Given the description of an element on the screen output the (x, y) to click on. 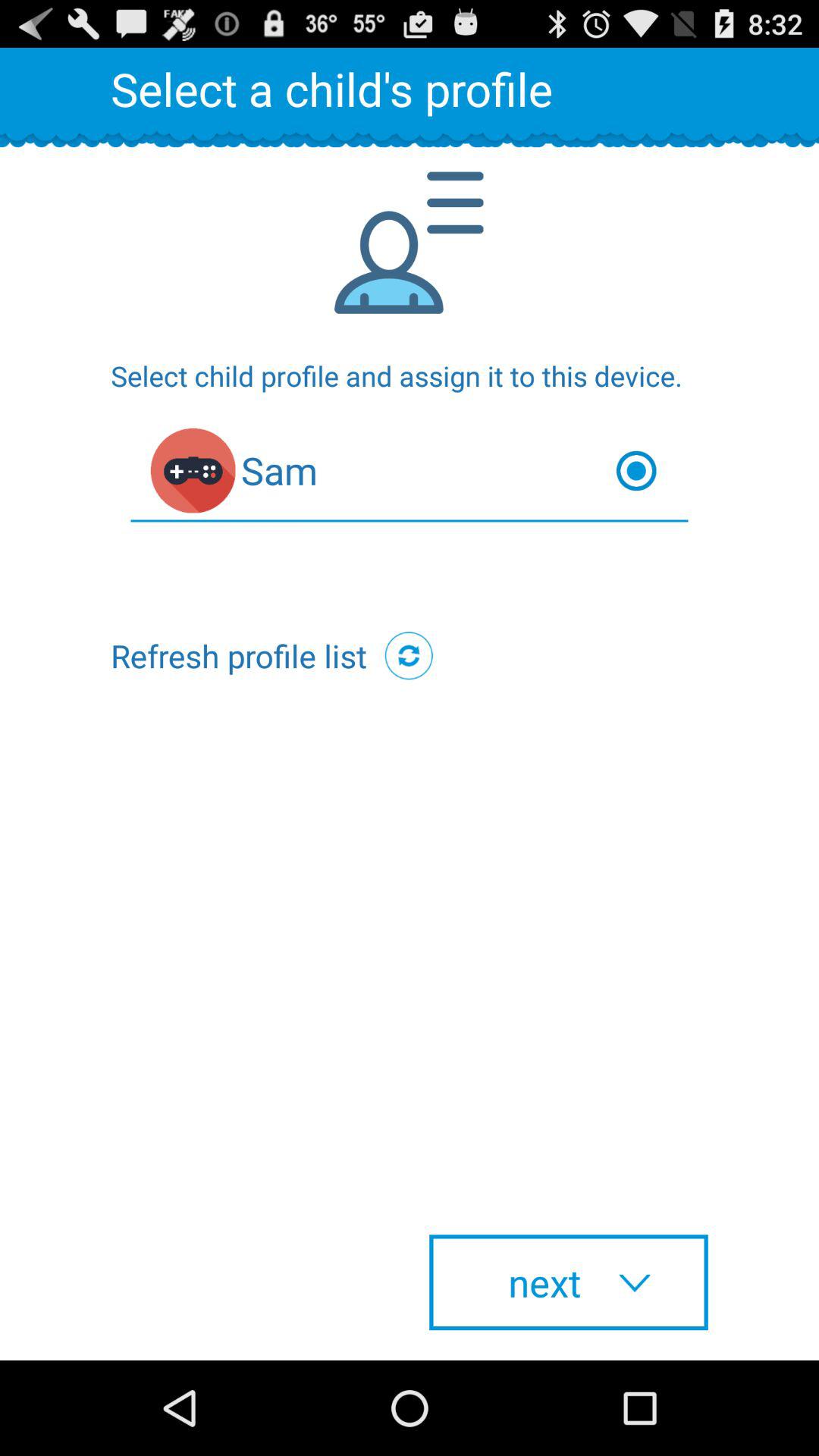
launch the icon below sam (408, 655)
